Given the description of an element on the screen output the (x, y) to click on. 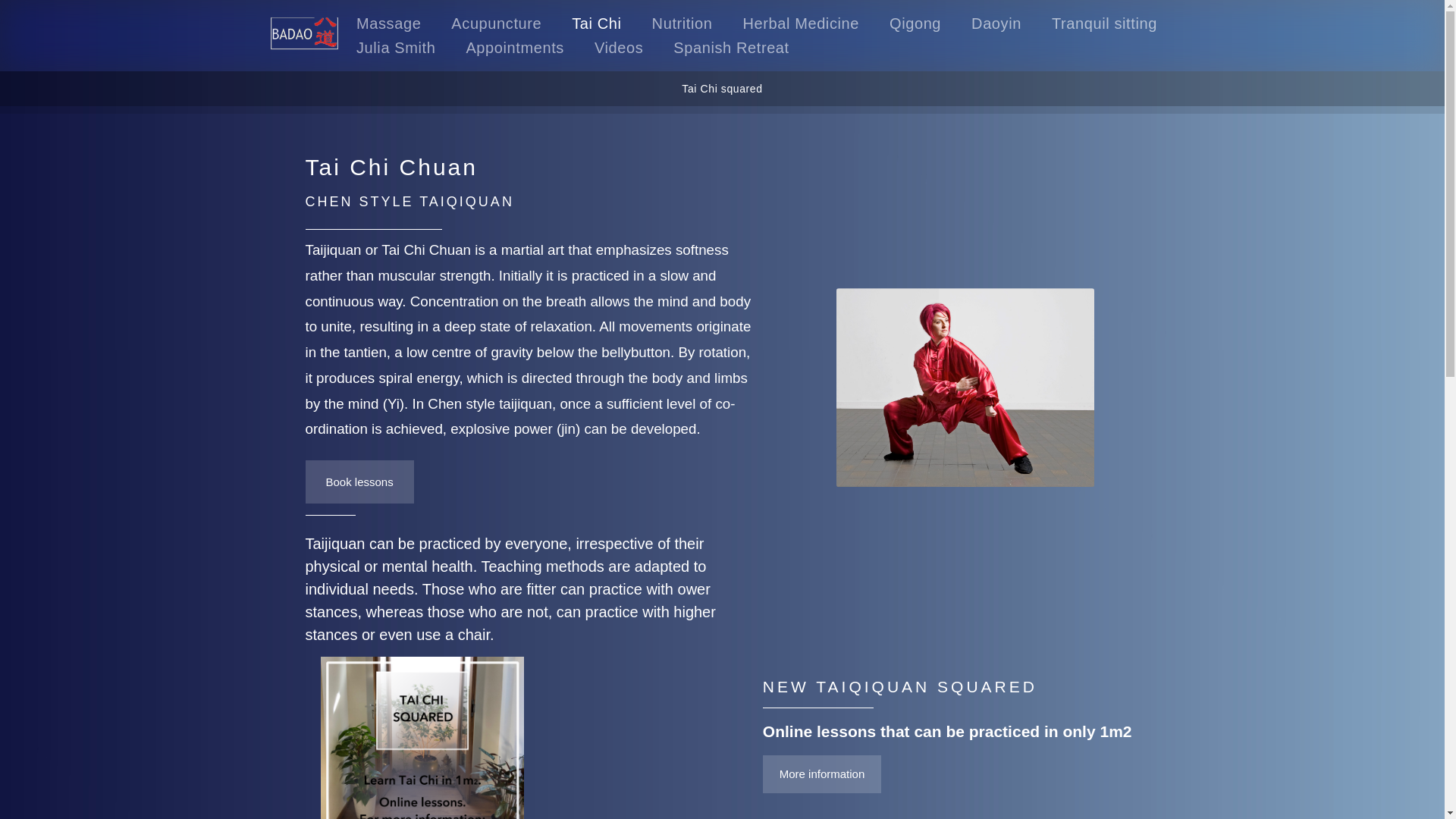
Tranquil sitting (1104, 23)
Tai Chi squared (721, 88)
Massage (388, 23)
Nutrition (682, 23)
Tai Chi (596, 23)
Spanish Retreat (730, 47)
Appointments (514, 47)
Tai Chi squared (821, 774)
Herbal Medicine (800, 23)
Julia Smith (395, 47)
Acupuncture (496, 23)
Daoyin (996, 23)
Qigong (914, 23)
Videos (618, 47)
